Given the description of an element on the screen output the (x, y) to click on. 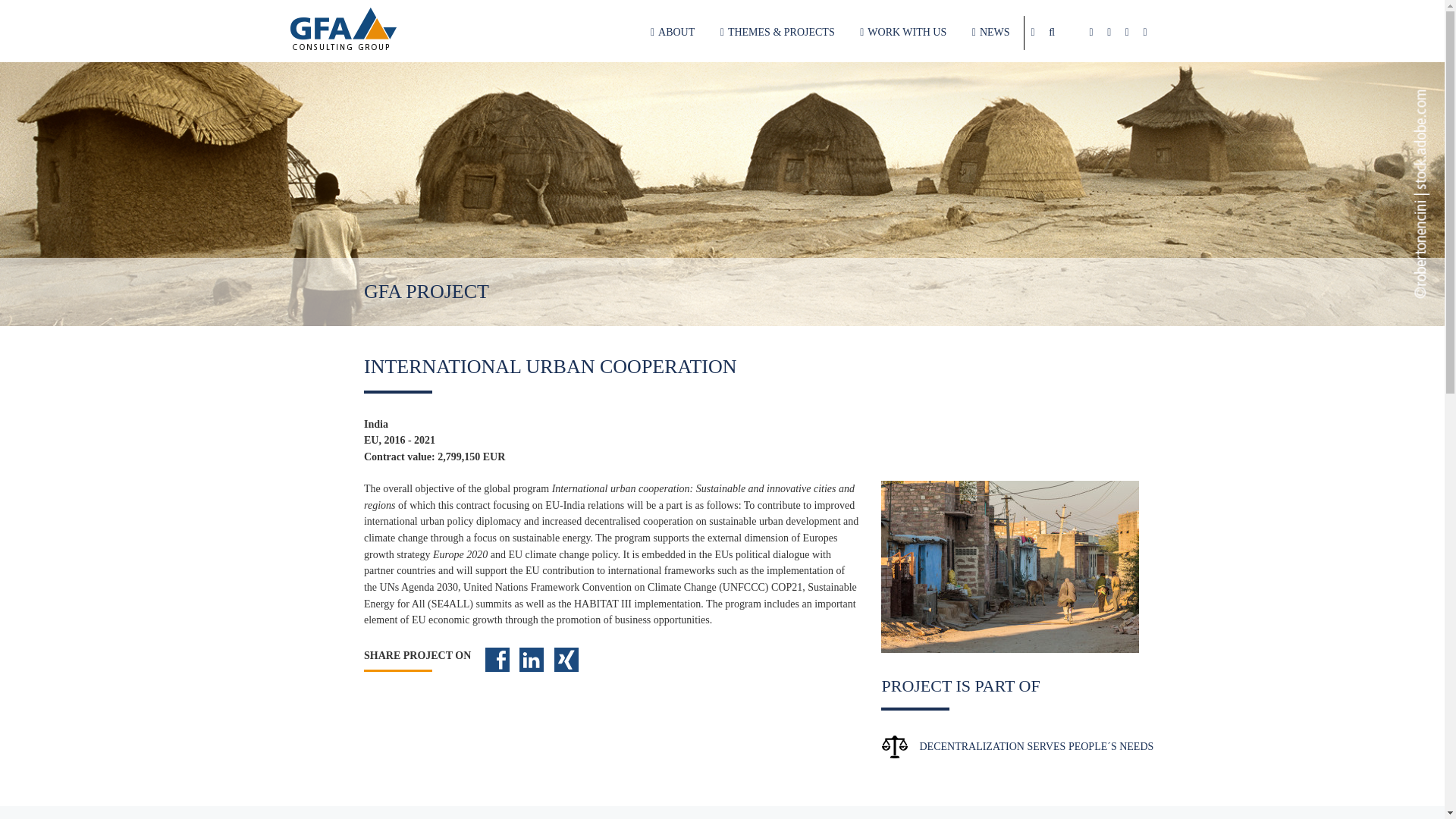
NEWS (991, 31)
ABOUT (672, 31)
WORK WITH US (903, 31)
